Given the description of an element on the screen output the (x, y) to click on. 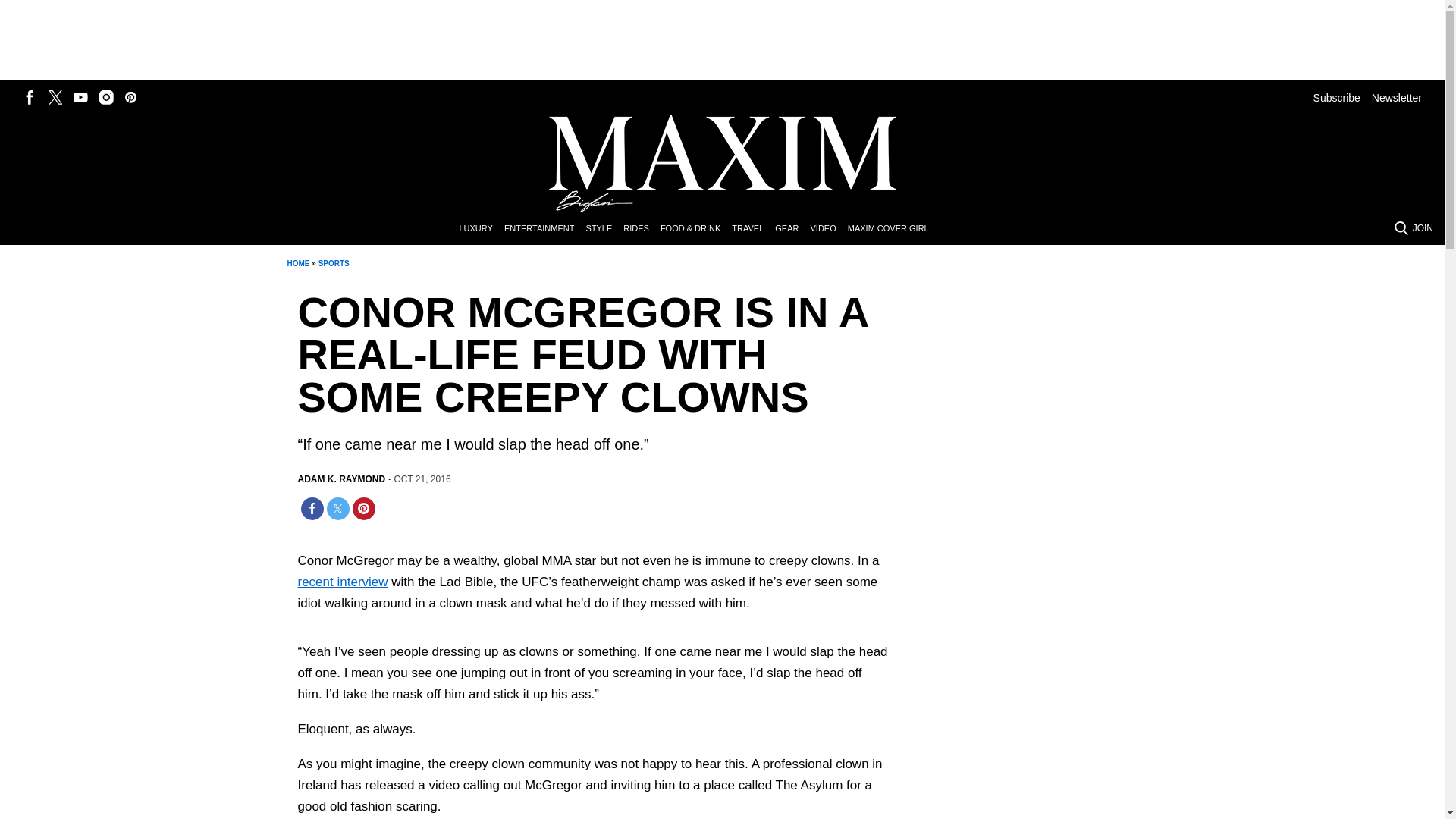
Newsletter (1396, 97)
LUXURY (480, 228)
JOIN (1422, 228)
Share on Twitter (337, 508)
Share on Facebook (311, 508)
HOME (297, 263)
Follow us on Youtube (80, 97)
STYLE (604, 228)
RIDES (642, 228)
MAXIM COVER GIRL (893, 228)
Subscribe (1336, 97)
Follow us on Instagram (106, 97)
ADAM K. RAYMOND (341, 479)
GEAR (791, 228)
VIDEO (828, 228)
